Given the description of an element on the screen output the (x, y) to click on. 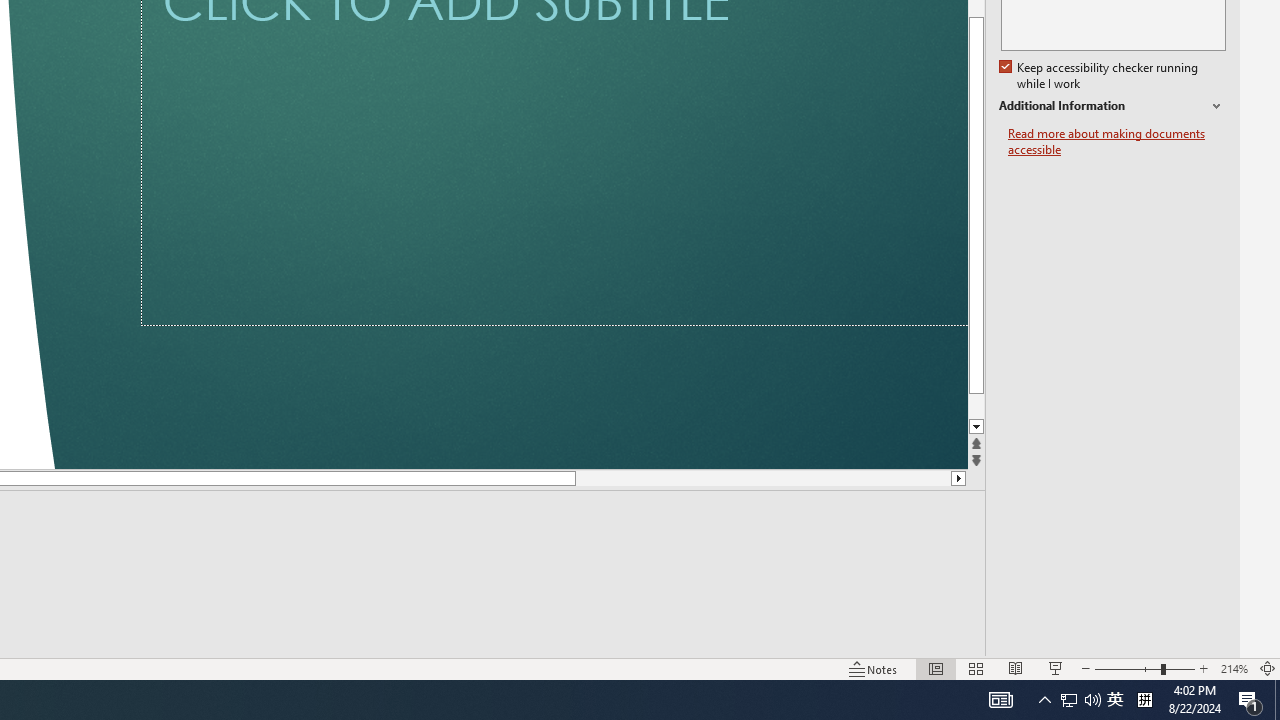
Read more about making documents accessible (1117, 142)
Additional Information (1112, 106)
Zoom 214% (1234, 668)
Keep accessibility checker running while I work (1099, 76)
Page down (572, 478)
